Given the description of an element on the screen output the (x, y) to click on. 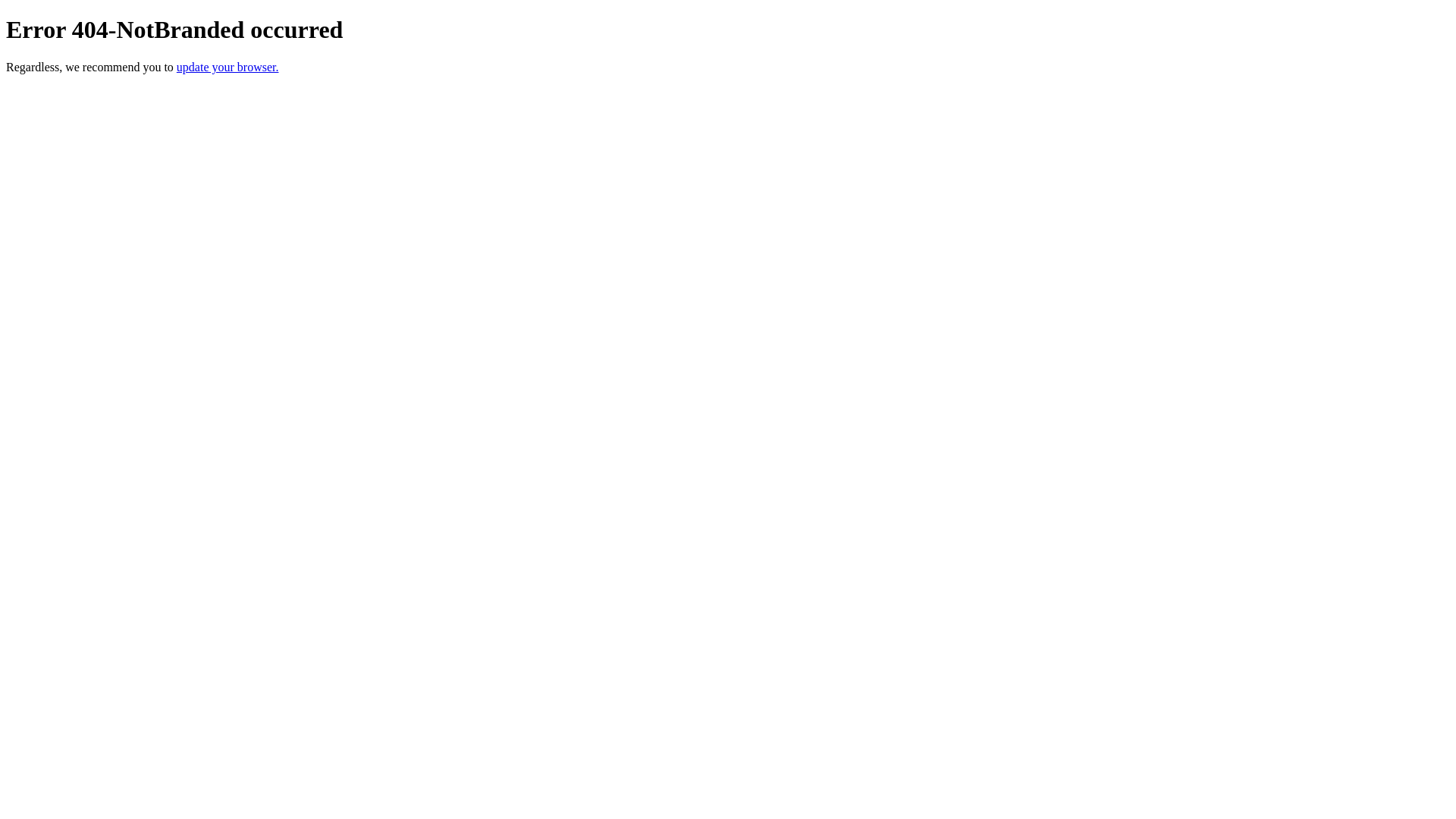
update your browser. Element type: text (227, 66)
